Given the description of an element on the screen output the (x, y) to click on. 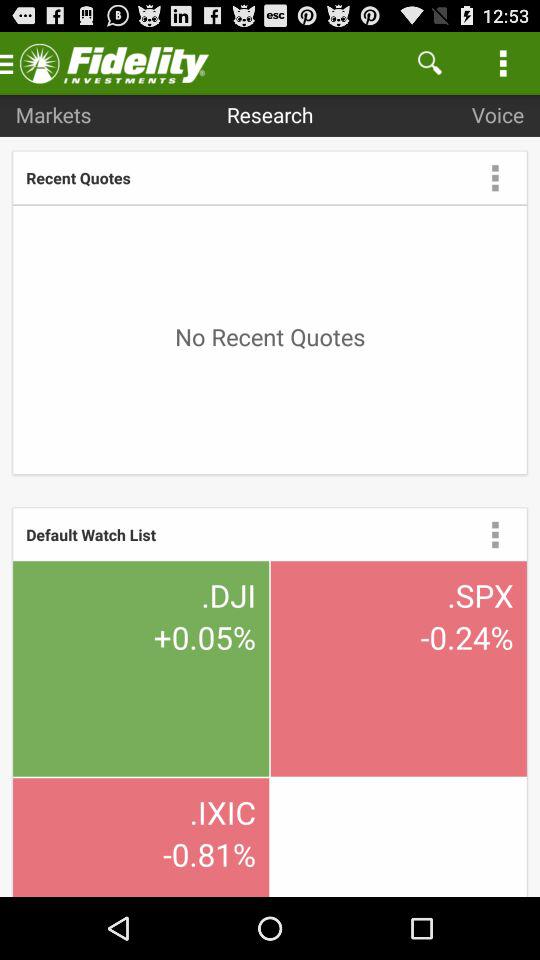
open settings (495, 534)
